Given the description of an element on the screen output the (x, y) to click on. 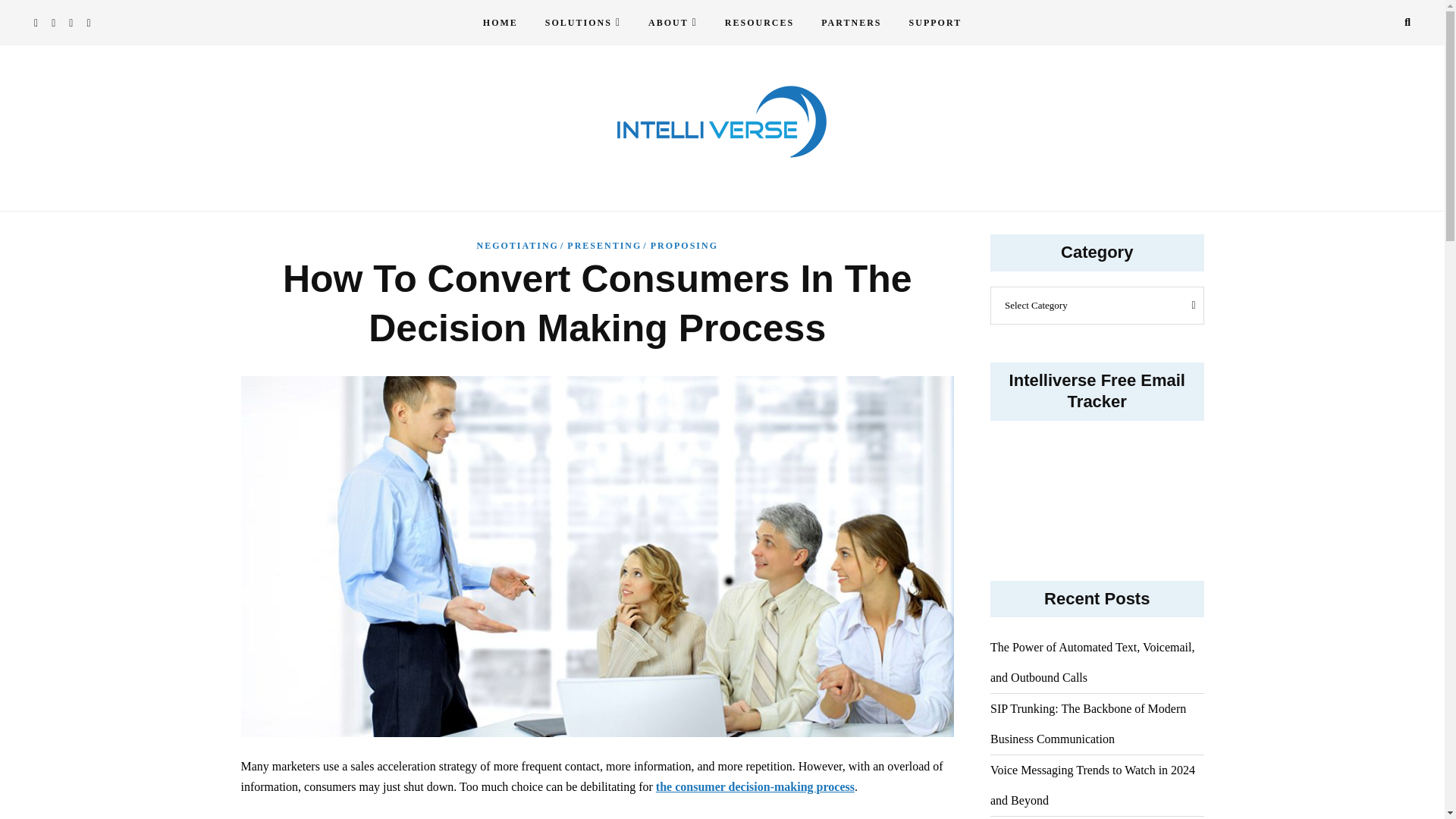
PRESENTING (606, 245)
HOME (499, 22)
SOLUTIONS (582, 22)
NEGOTIATING (520, 245)
ABOUT (672, 22)
PROPOSING (683, 245)
PARTNERS (851, 22)
RESOURCES (759, 22)
SUPPORT (935, 22)
the consumer decision-making process (755, 786)
